Given the description of an element on the screen output the (x, y) to click on. 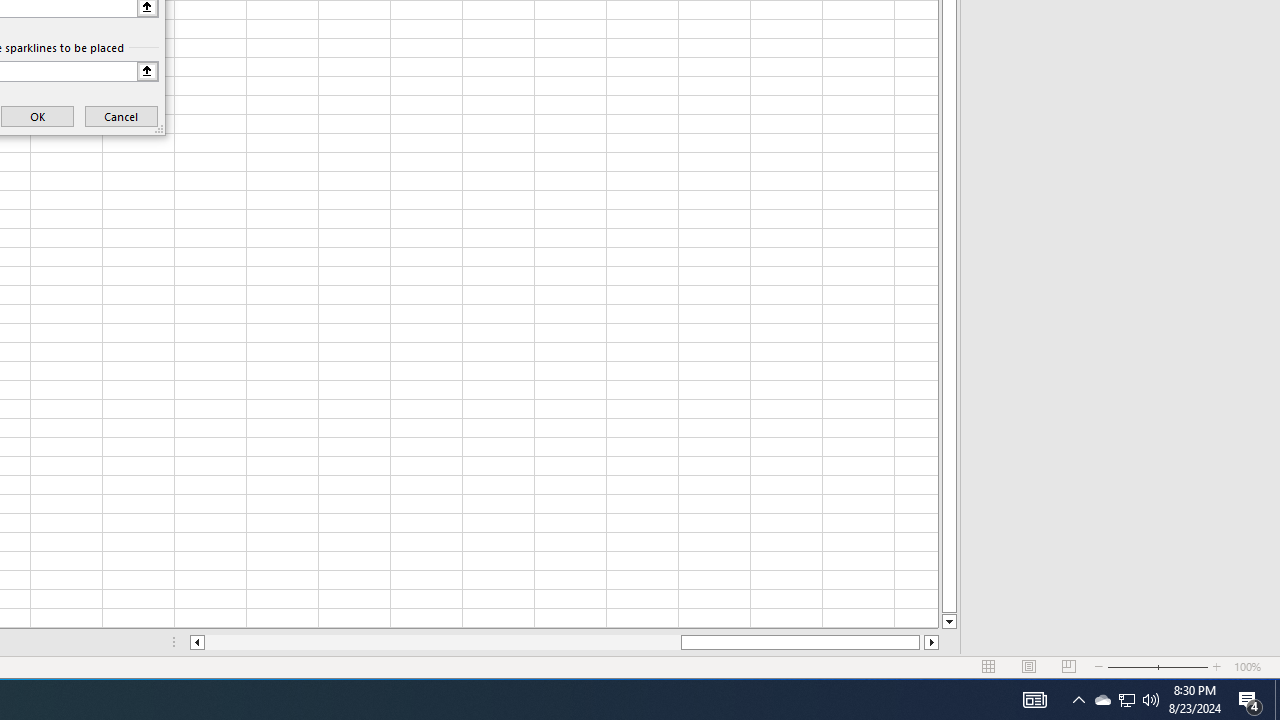
Page left (442, 642)
